Given the description of an element on the screen output the (x, y) to click on. 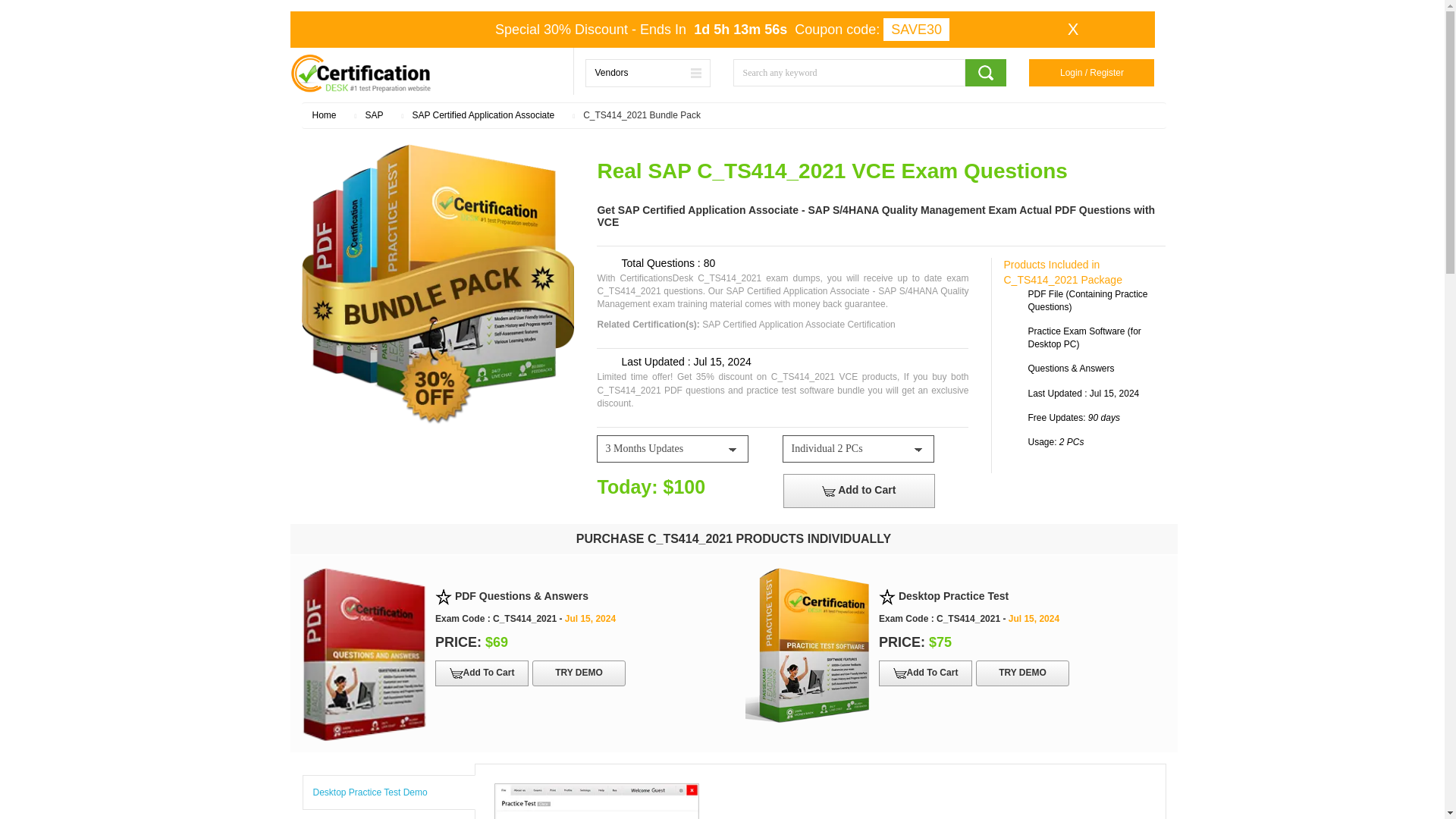
Desktop Practice Test Demo (387, 791)
Add To Cart (925, 673)
TRY DEMO (579, 673)
Home (324, 114)
Add To Cart (481, 673)
SAP (373, 114)
SAP Certified Application Associate (483, 114)
Add to Cart (858, 490)
TRY DEMO (1021, 673)
